Given the description of an element on the screen output the (x, y) to click on. 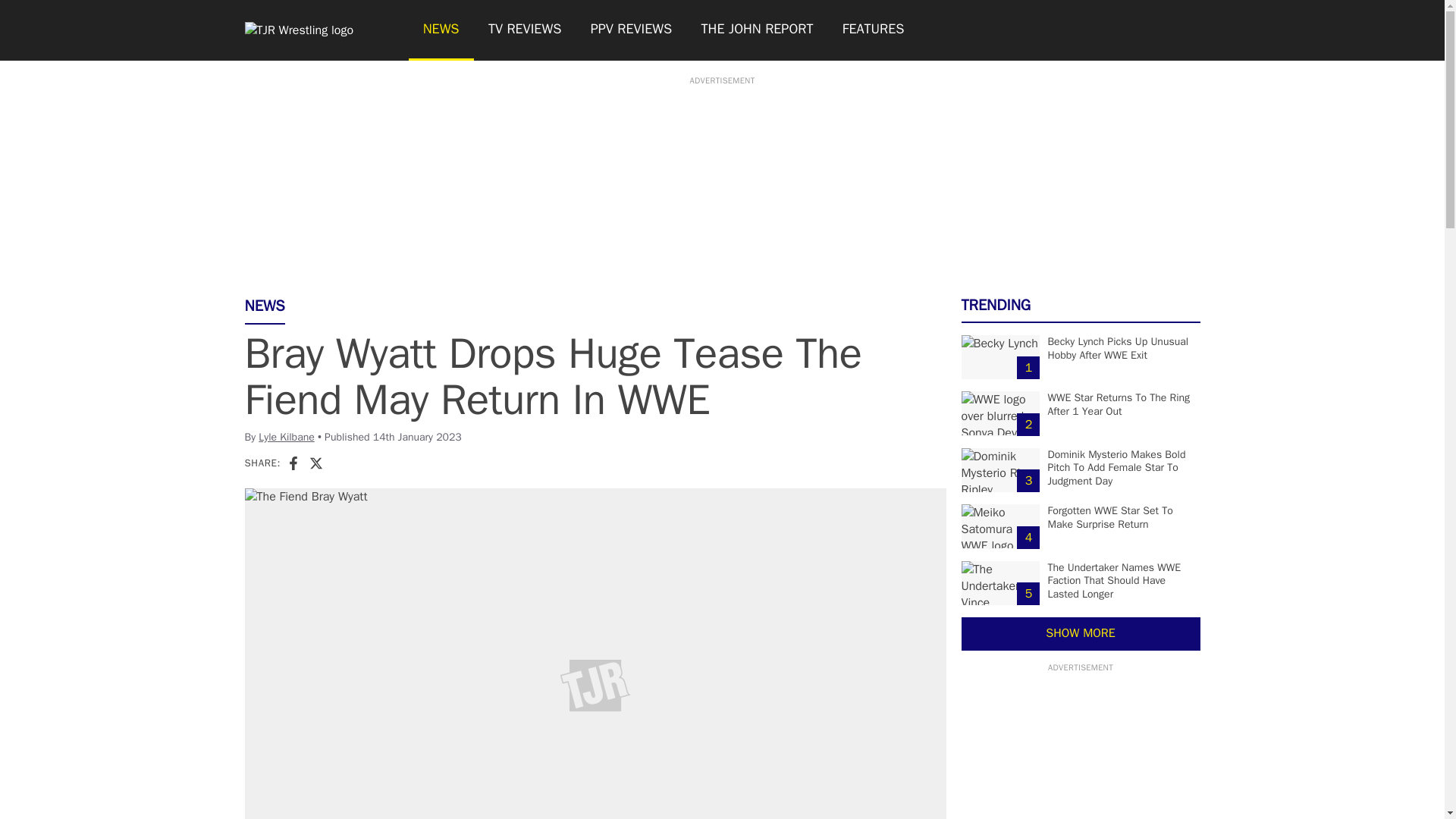
X (315, 462)
Lyle Kilbane (286, 436)
NEWS (440, 30)
PPV REVIEWS (631, 30)
X (315, 463)
Facebook (292, 462)
FEATURES (873, 30)
Facebook (292, 463)
TV REVIEWS (525, 30)
THE JOHN REPORT (756, 30)
